Given the description of an element on the screen output the (x, y) to click on. 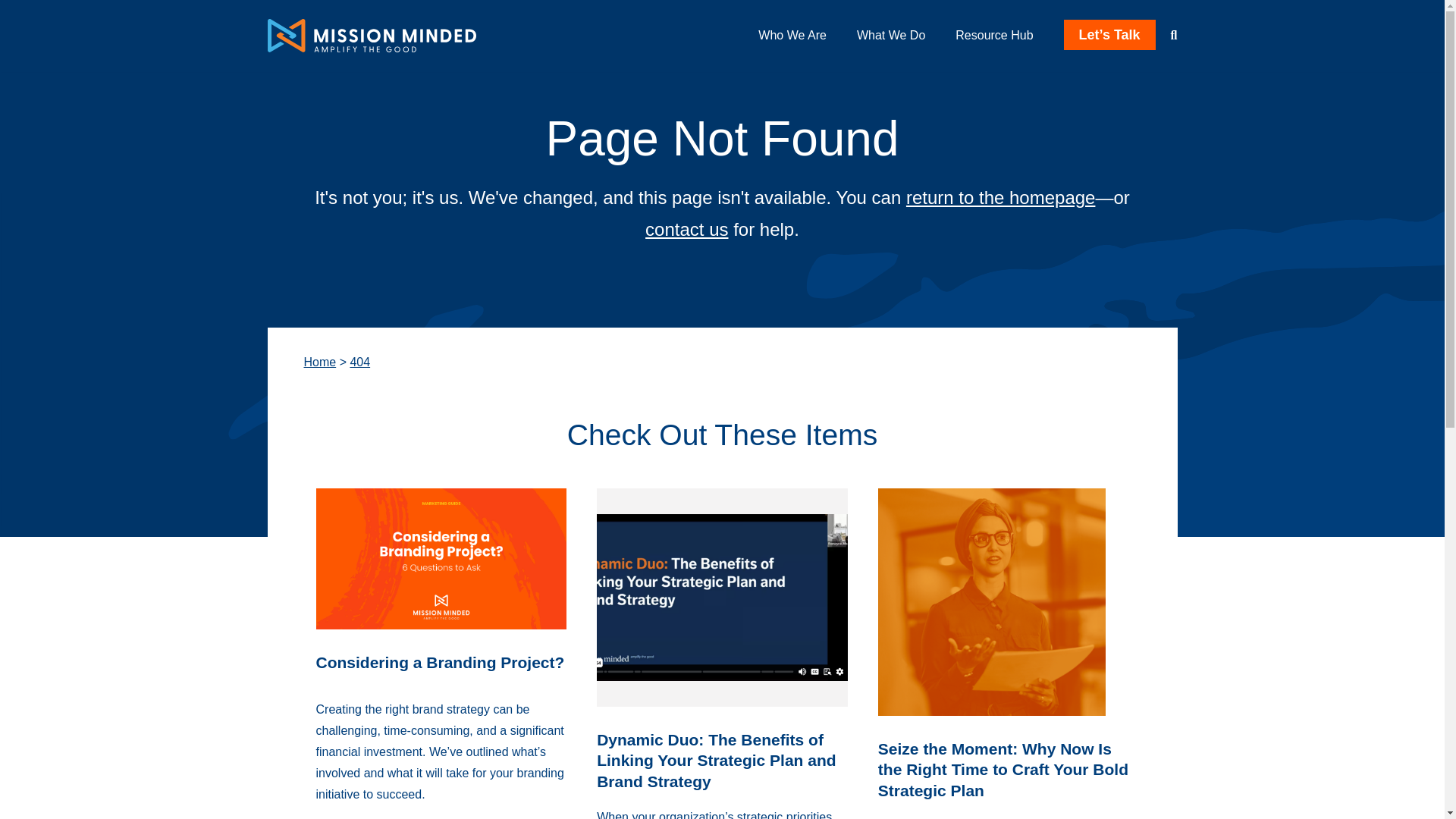
contact us (686, 229)
Go to Mission Minded. (319, 361)
Resource Hub (993, 34)
What We Do (890, 34)
404 (359, 361)
return to the homepage (1000, 197)
Go to 404. (359, 361)
Home (319, 361)
